Given the description of an element on the screen output the (x, y) to click on. 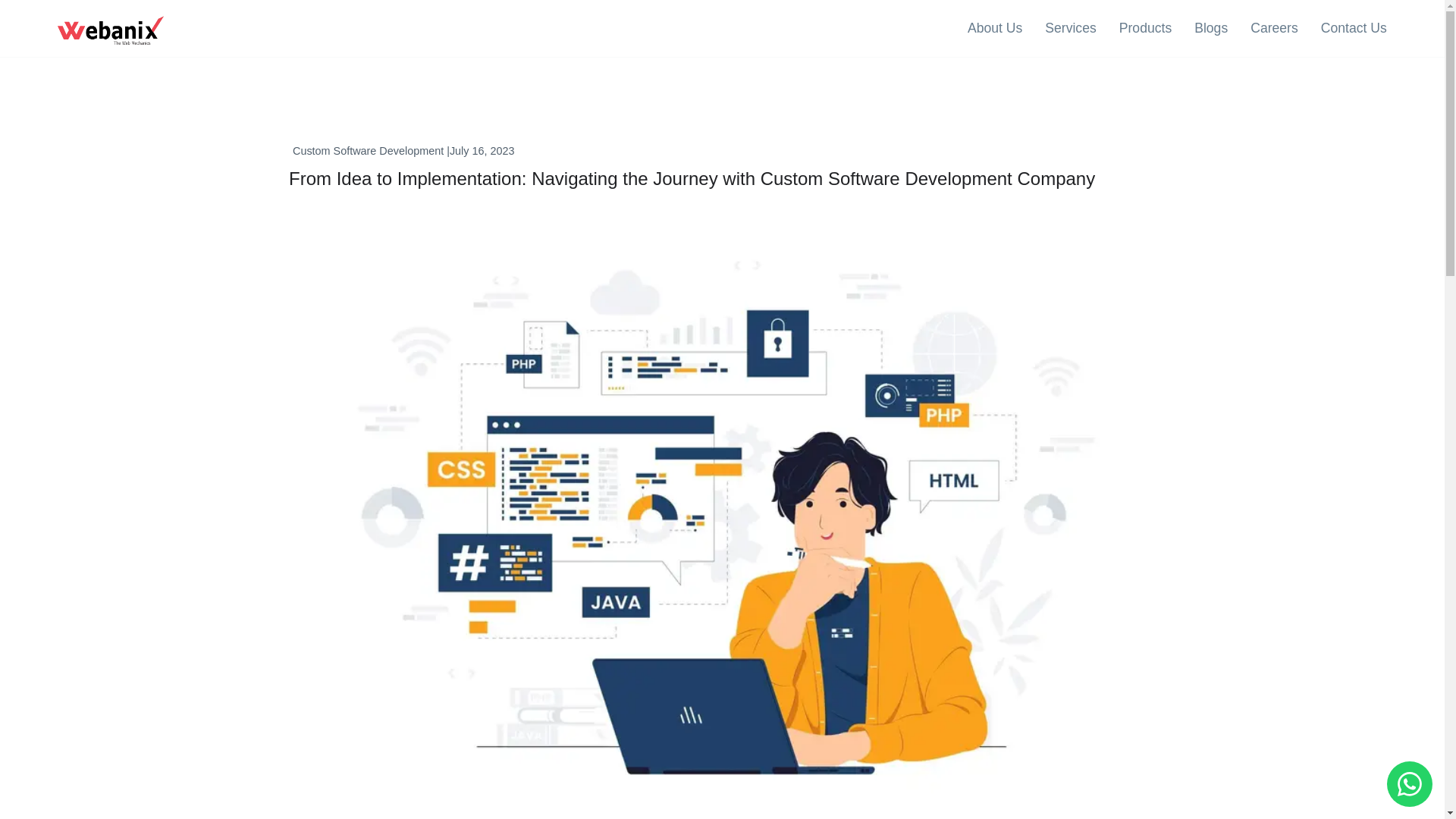
Services (1070, 27)
About Us (995, 27)
Contact Us (1353, 27)
Careers (1274, 27)
Blogs (1210, 27)
Products (1145, 27)
